Given the description of an element on the screen output the (x, y) to click on. 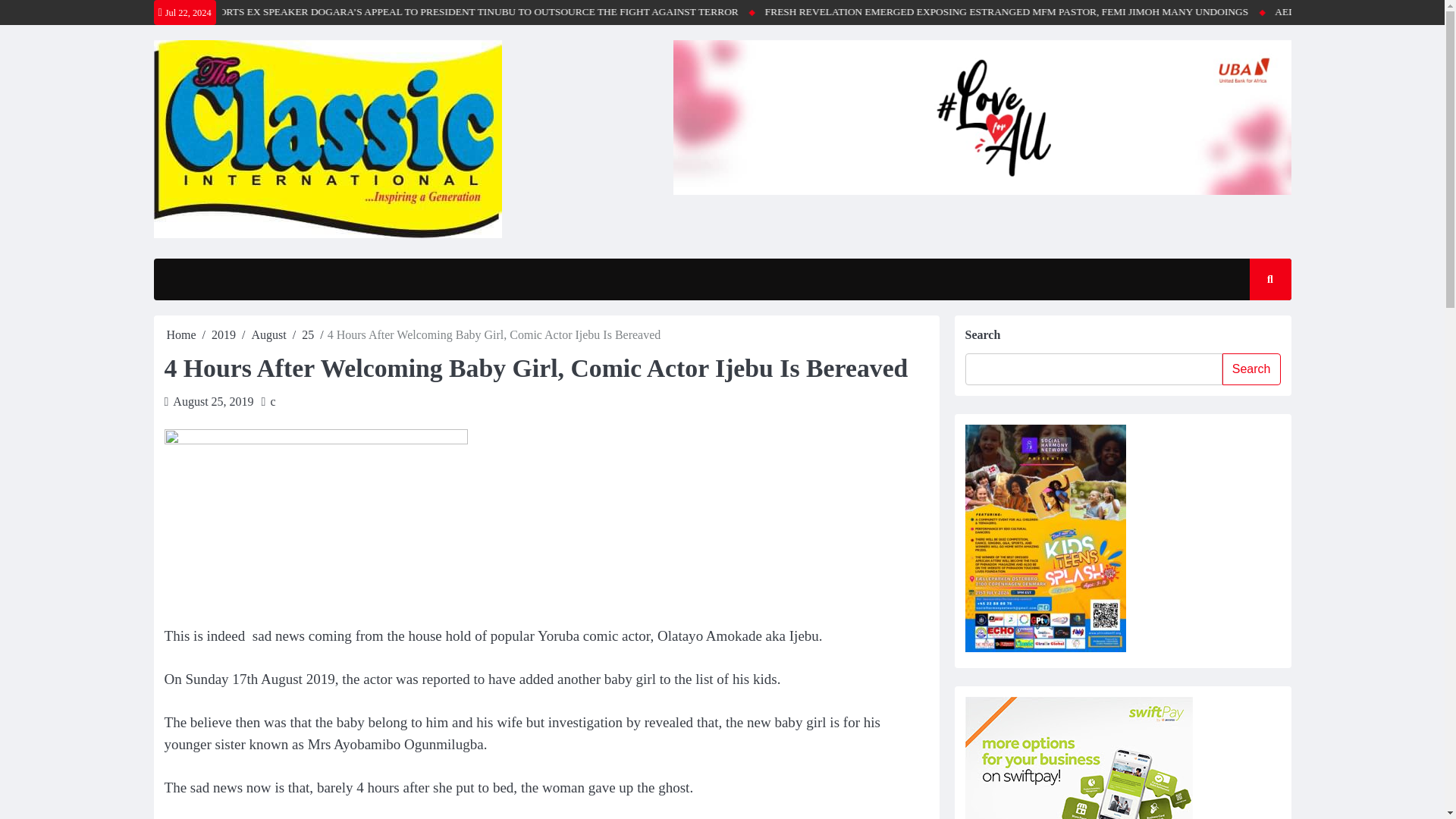
25 (307, 334)
August (268, 334)
2019 (223, 334)
Home (181, 334)
August 25, 2019 (213, 400)
Search (1256, 323)
